Given the description of an element on the screen output the (x, y) to click on. 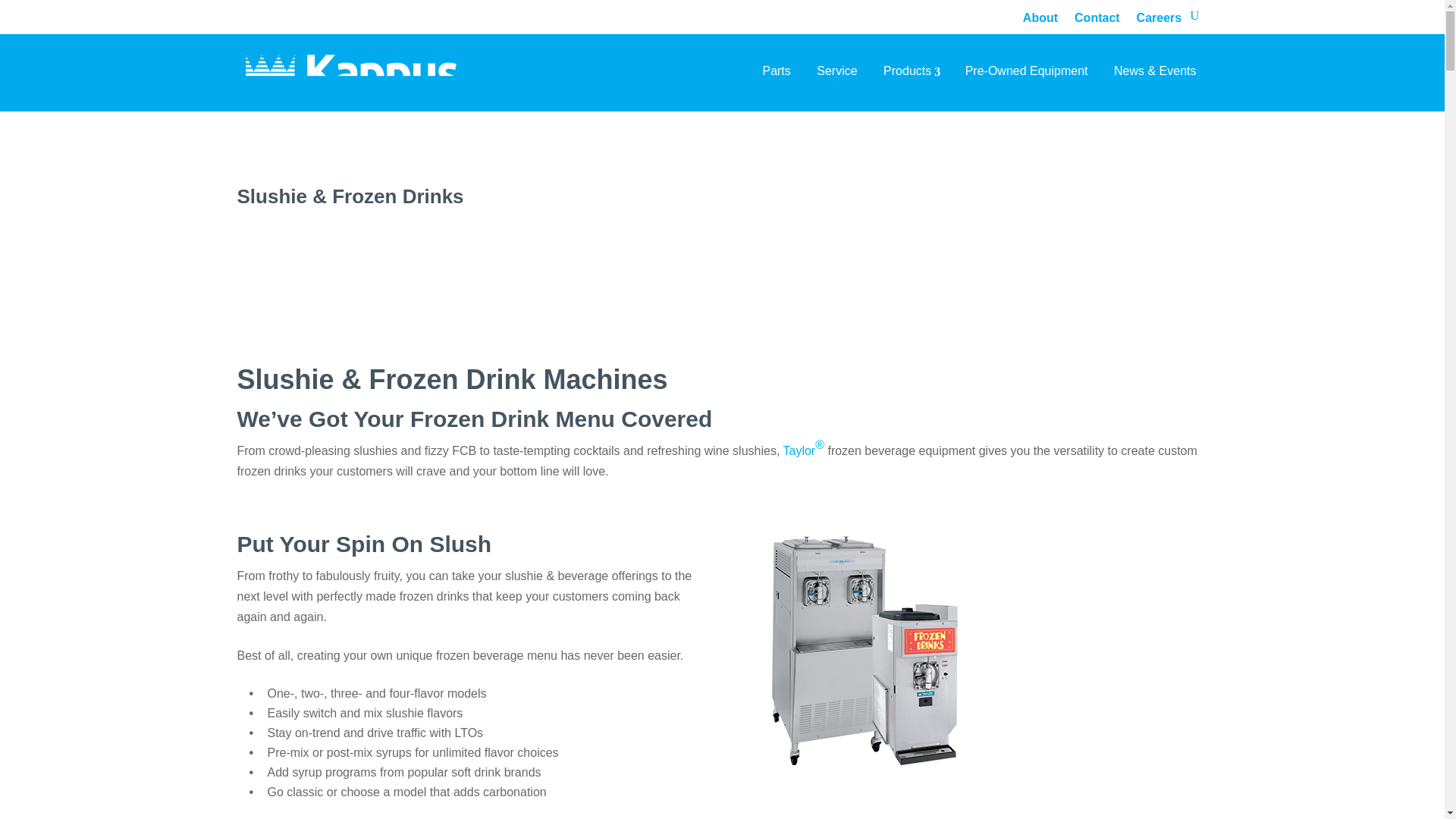
Parts (776, 71)
Service (836, 71)
Kappus - front page (352, 76)
About (1040, 17)
Pre-Owned Equipment (1026, 71)
Careers (1159, 17)
ice cream machine (864, 649)
Contact (1096, 17)
Products (911, 71)
